Given the description of an element on the screen output the (x, y) to click on. 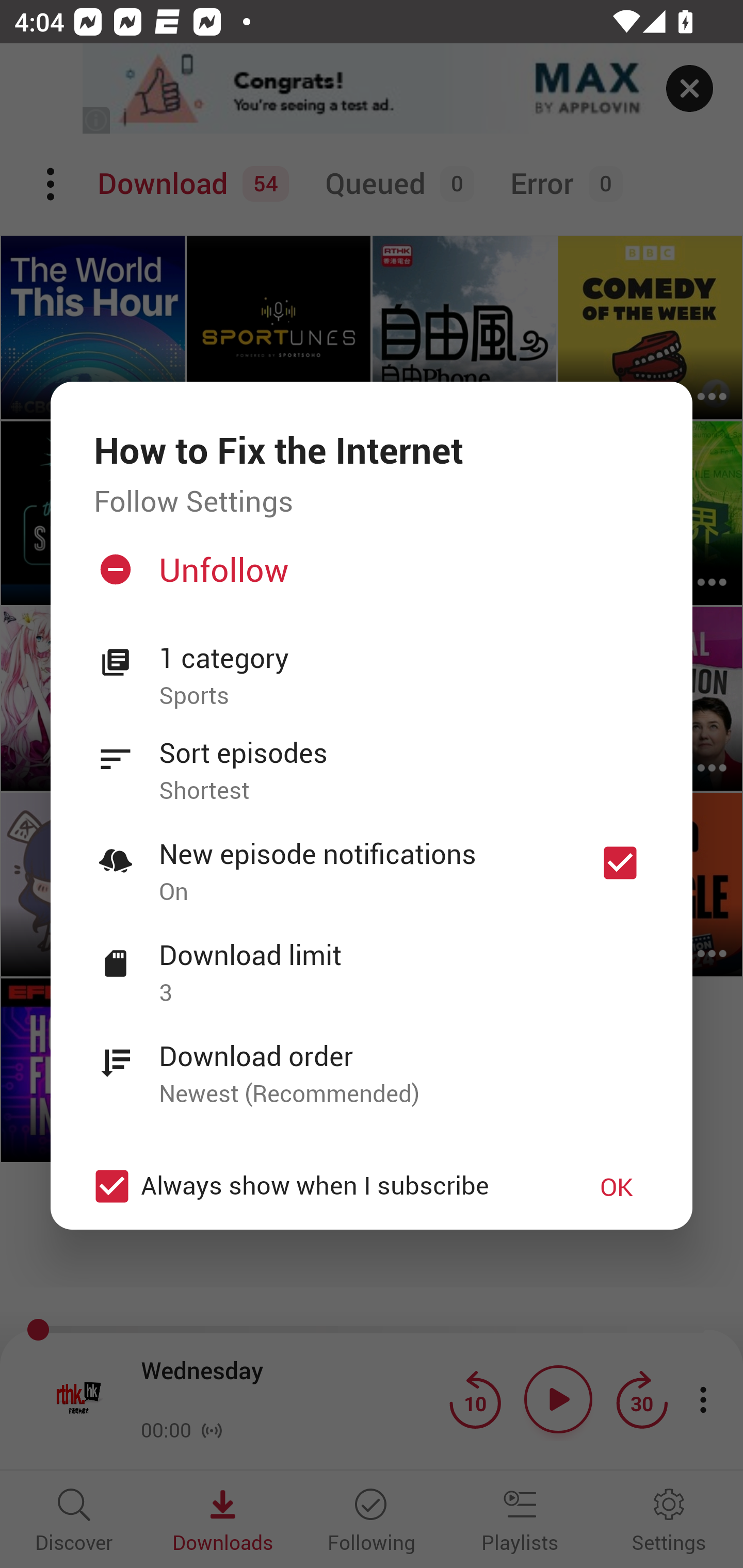
Unfollow (369, 576)
1 category (404, 658)
Sports (404, 696)
Sort episodes Shortest (371, 760)
New episode notifications (620, 863)
Download limit 3 (371, 962)
Download order Newest (Recommended) (371, 1063)
OK (616, 1186)
Always show when I subscribe (320, 1186)
